Given the description of an element on the screen output the (x, y) to click on. 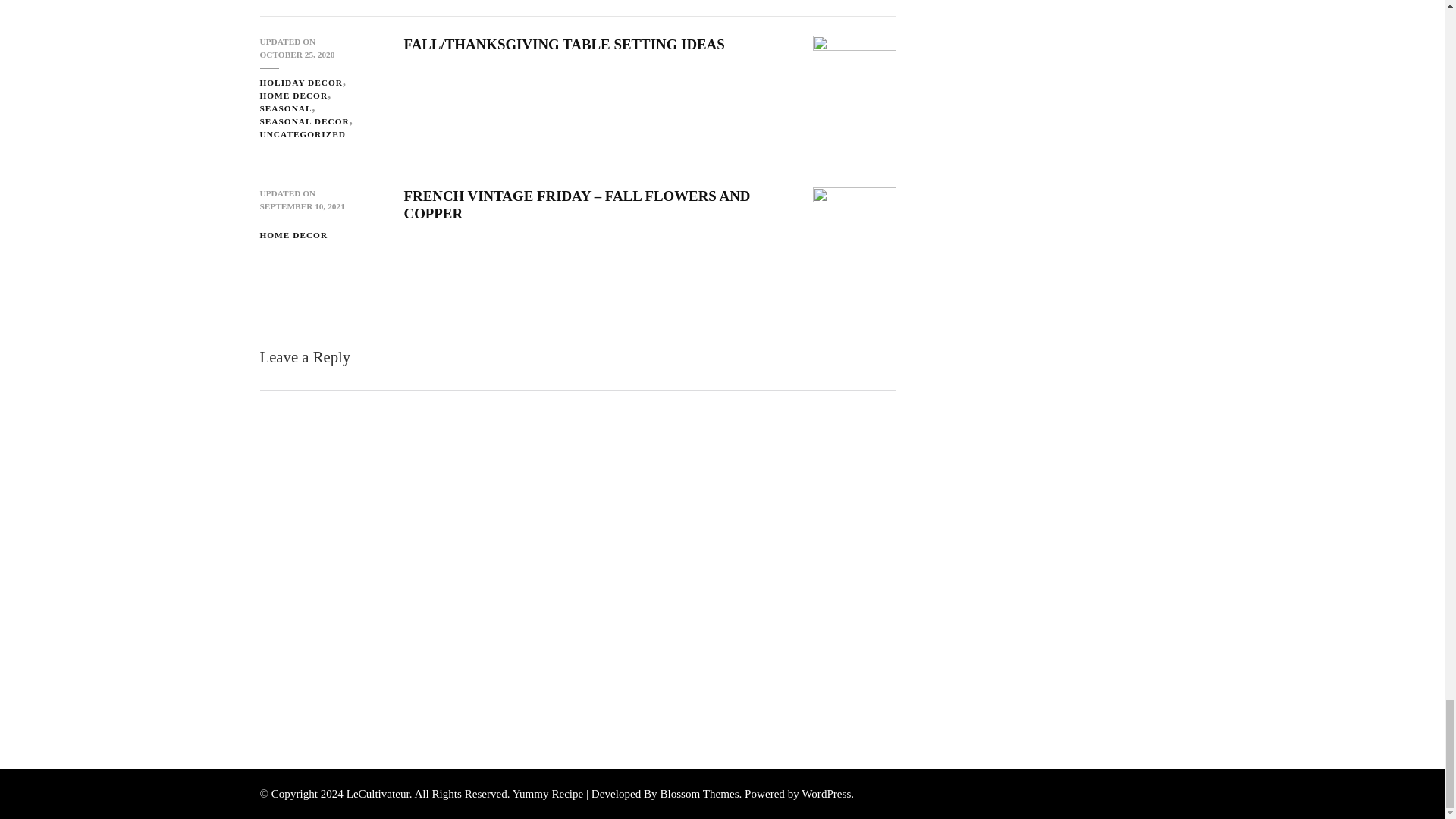
SEASONAL (288, 108)
SEASONAL DECOR (307, 121)
SEPTEMBER 10, 2021 (301, 205)
HOME DECOR (296, 95)
UNCATEGORIZED (302, 133)
OCTOBER 25, 2020 (296, 54)
HOME DECOR (293, 235)
HOLIDAY DECOR (304, 82)
